Given the description of an element on the screen output the (x, y) to click on. 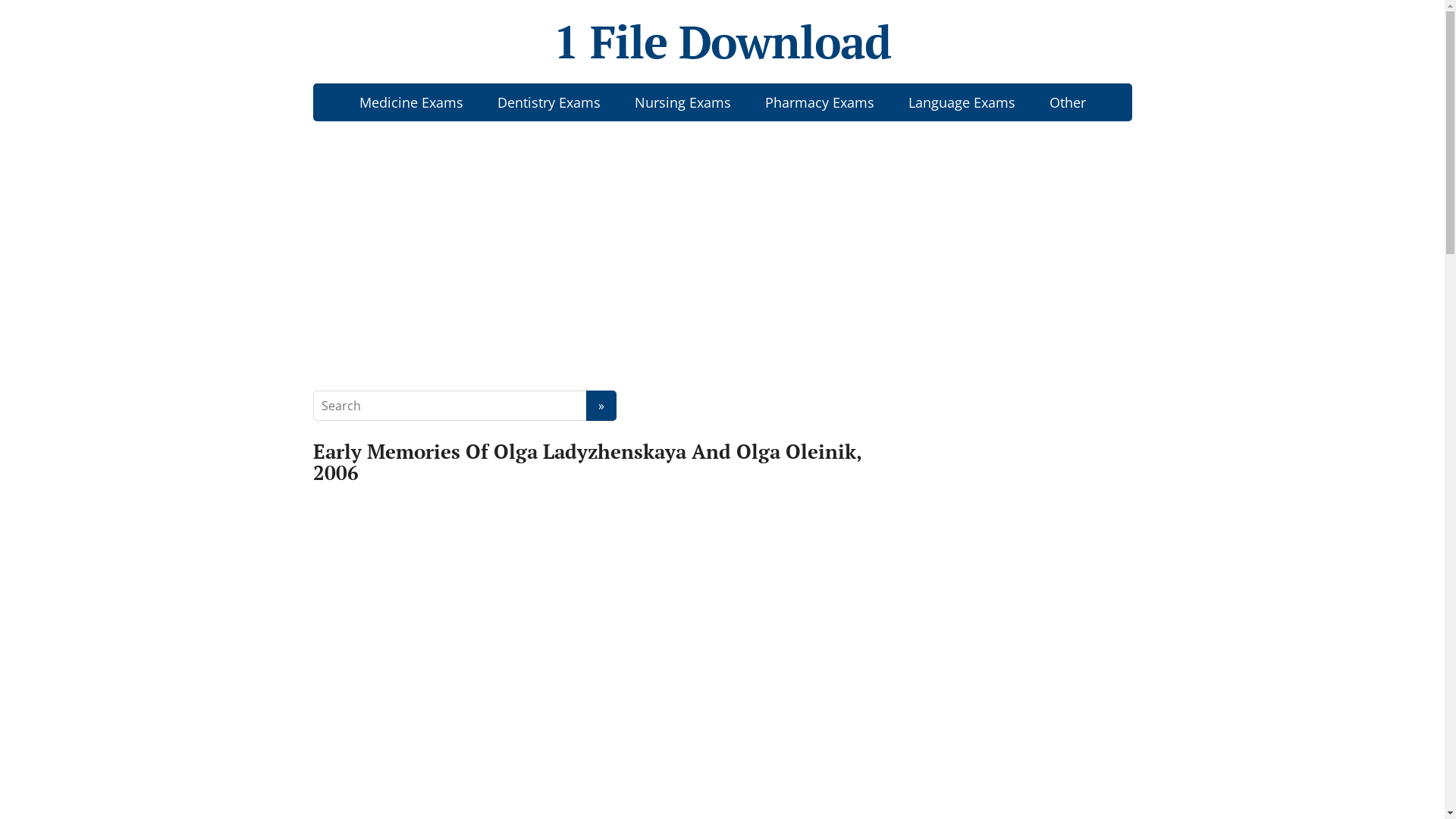
Dentistry Exams Element type: text (548, 102)
Other Element type: text (1067, 102)
1 File Download Element type: text (721, 41)
Language Exams Element type: text (961, 102)
Pharmacy Exams Element type: text (818, 102)
Medicine Exams Element type: text (411, 102)
Advertisement Element type: hover (721, 246)
Nursing Exams Element type: text (681, 102)
